Given the description of an element on the screen output the (x, y) to click on. 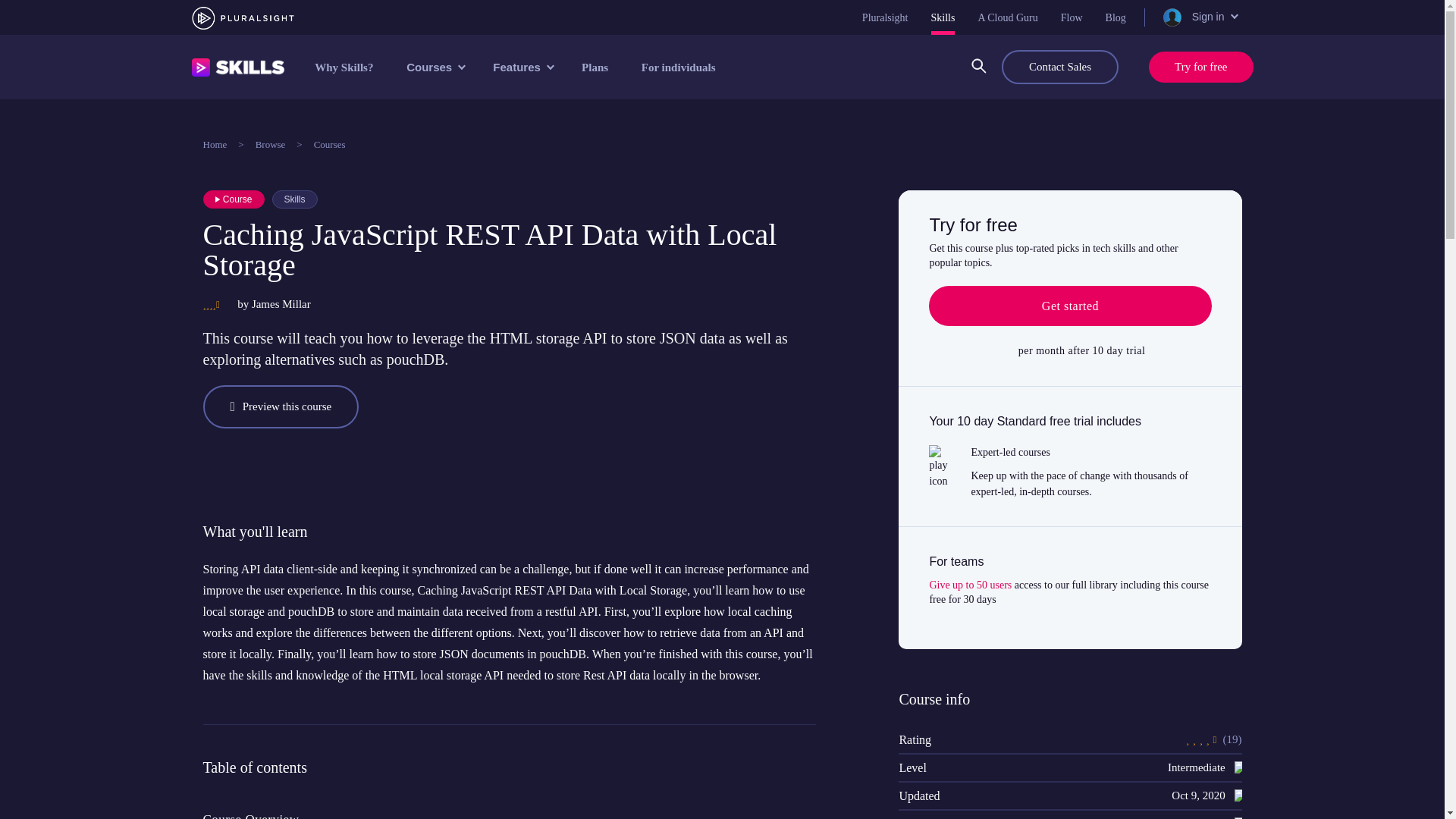
Skills (943, 16)
Courses (434, 66)
A Cloud Guru (1006, 16)
Pluralsight (884, 16)
Flow (1072, 16)
Blog (1115, 16)
Why Skills? (344, 66)
Sign in (1198, 17)
Start free trial now (1069, 305)
